Given the description of an element on the screen output the (x, y) to click on. 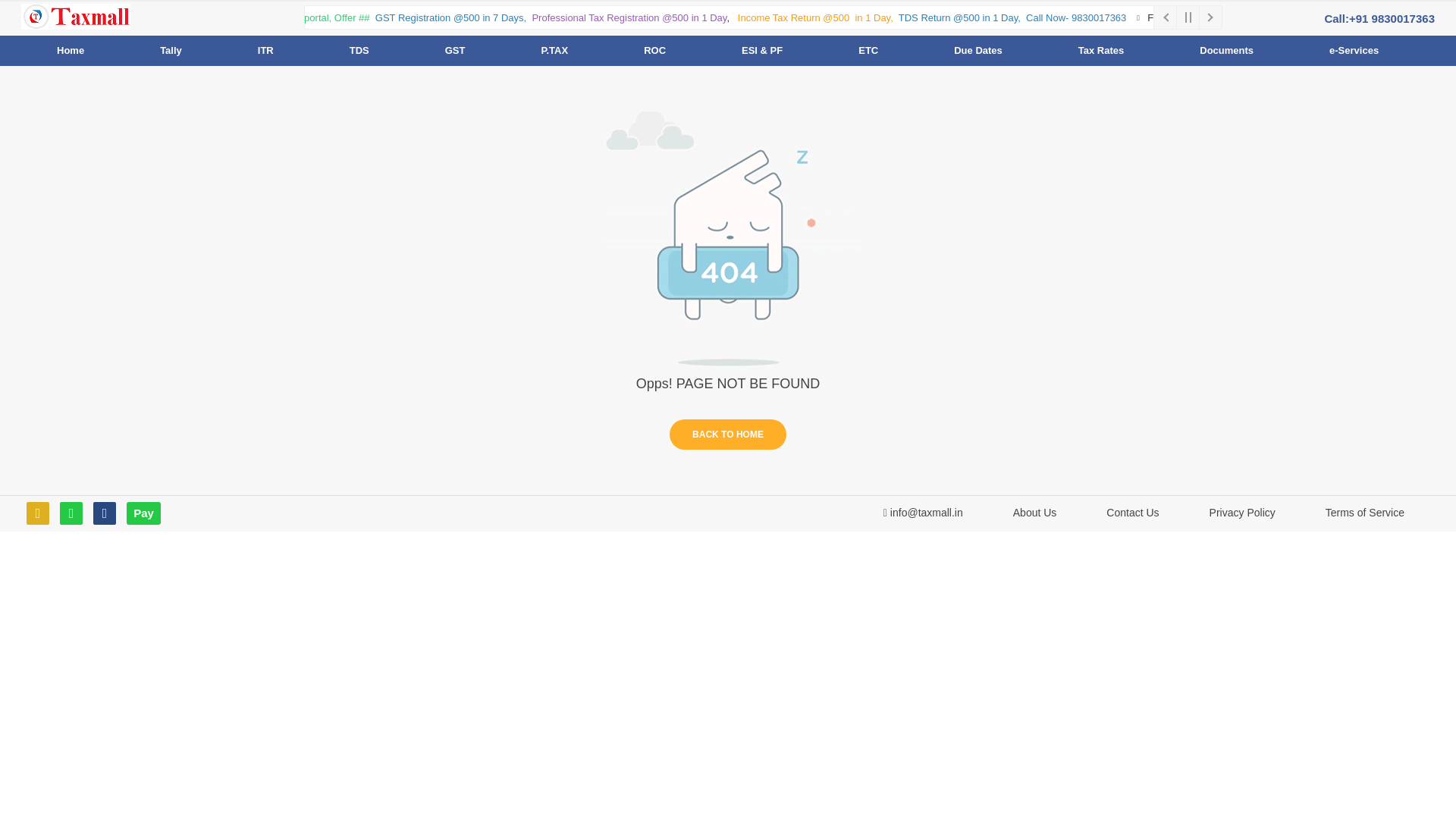
e-Services (1353, 50)
Documents (1226, 50)
ITR (265, 50)
TDS (359, 50)
GST (455, 50)
Tally (170, 50)
ETC (868, 50)
Tax Rates (1101, 50)
ROC (654, 50)
P.TAX (553, 50)
Home (70, 50)
Due Dates (978, 50)
